Given the description of an element on the screen output the (x, y) to click on. 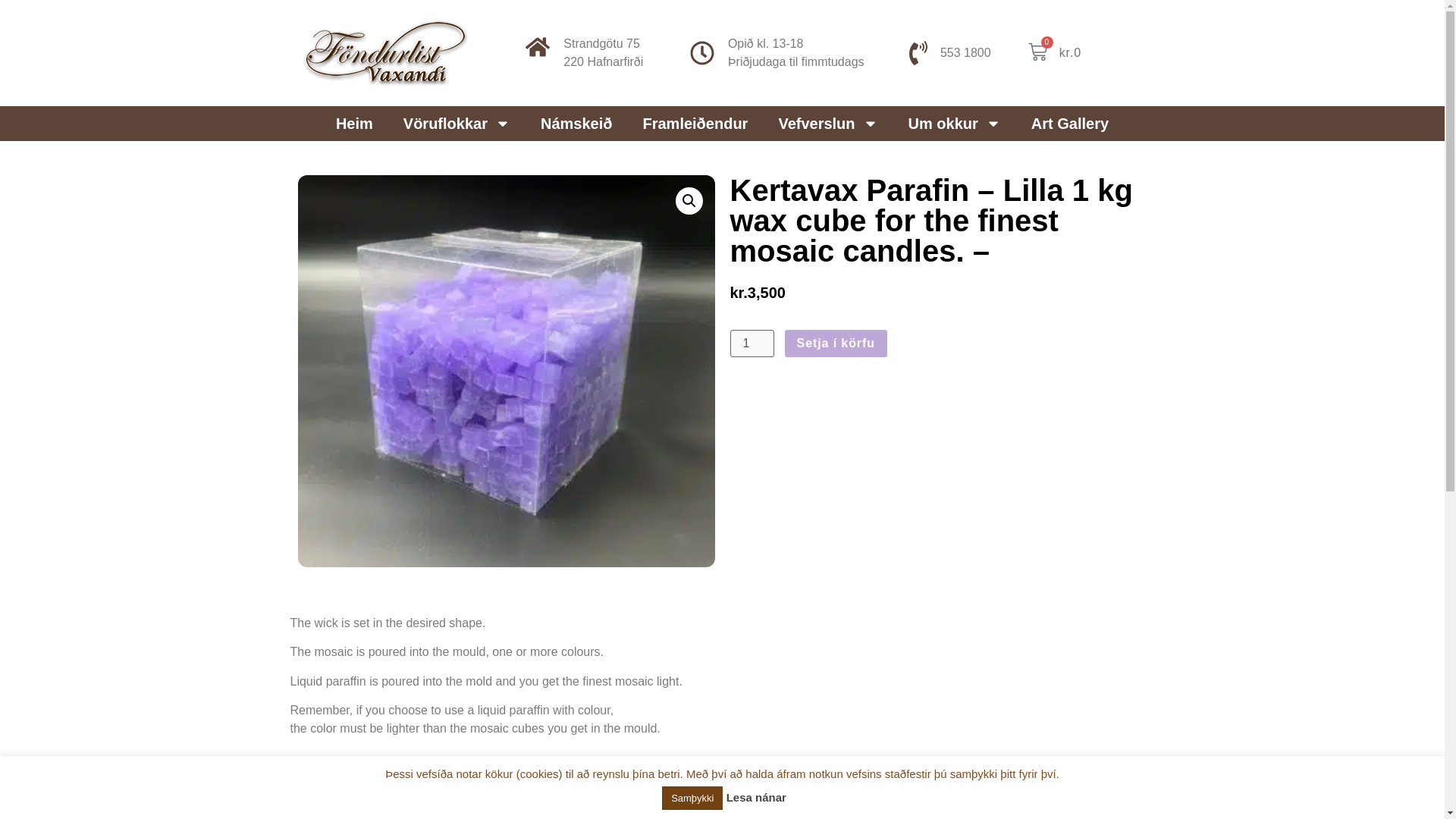
Vefverslun (827, 123)
1 (1054, 53)
Heim (751, 343)
Um okkur (354, 123)
mosaik-lilla-scaled (954, 123)
